Given the description of an element on the screen output the (x, y) to click on. 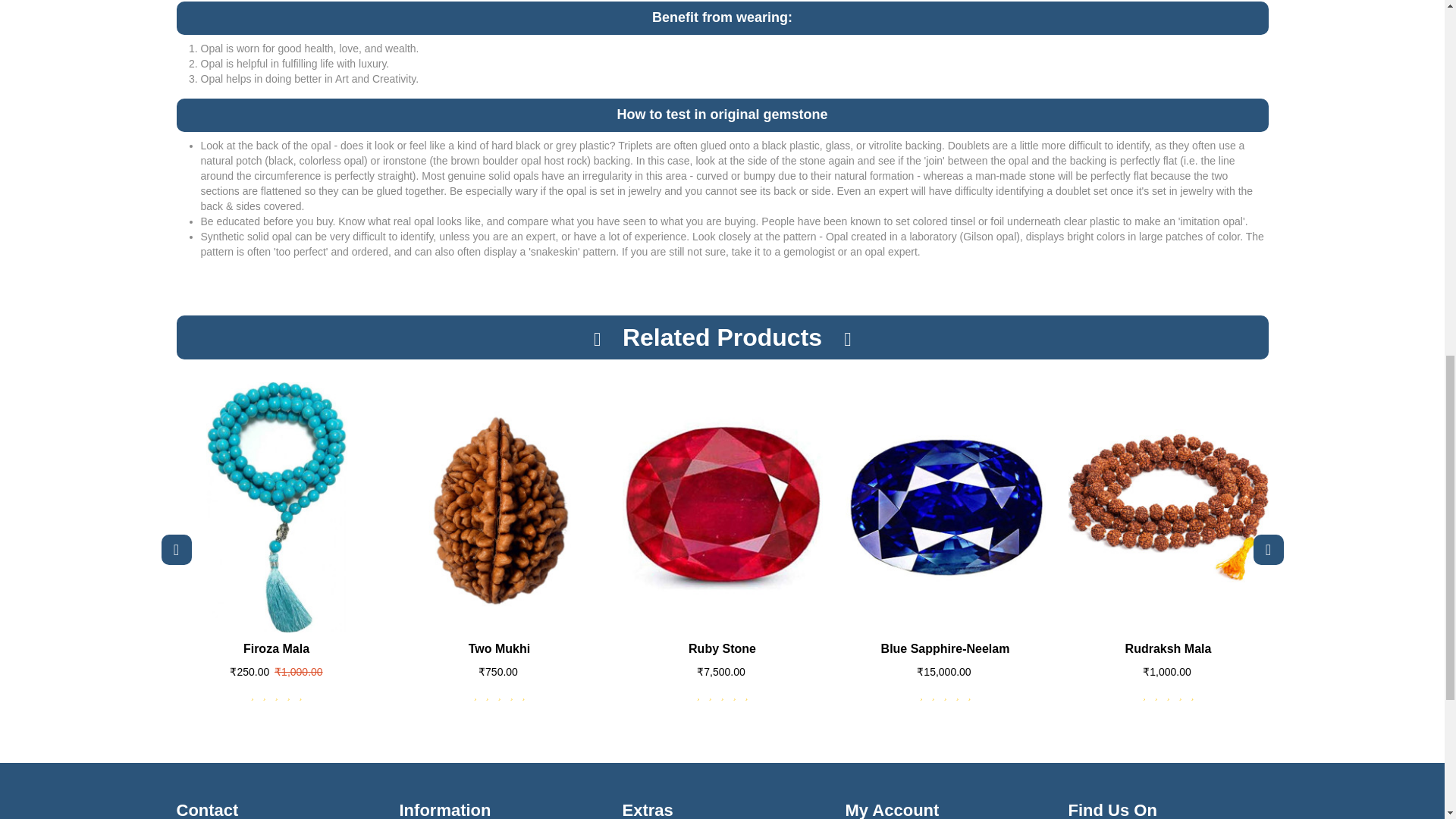
Firoza Mala (275, 507)
